Given the description of an element on the screen output the (x, y) to click on. 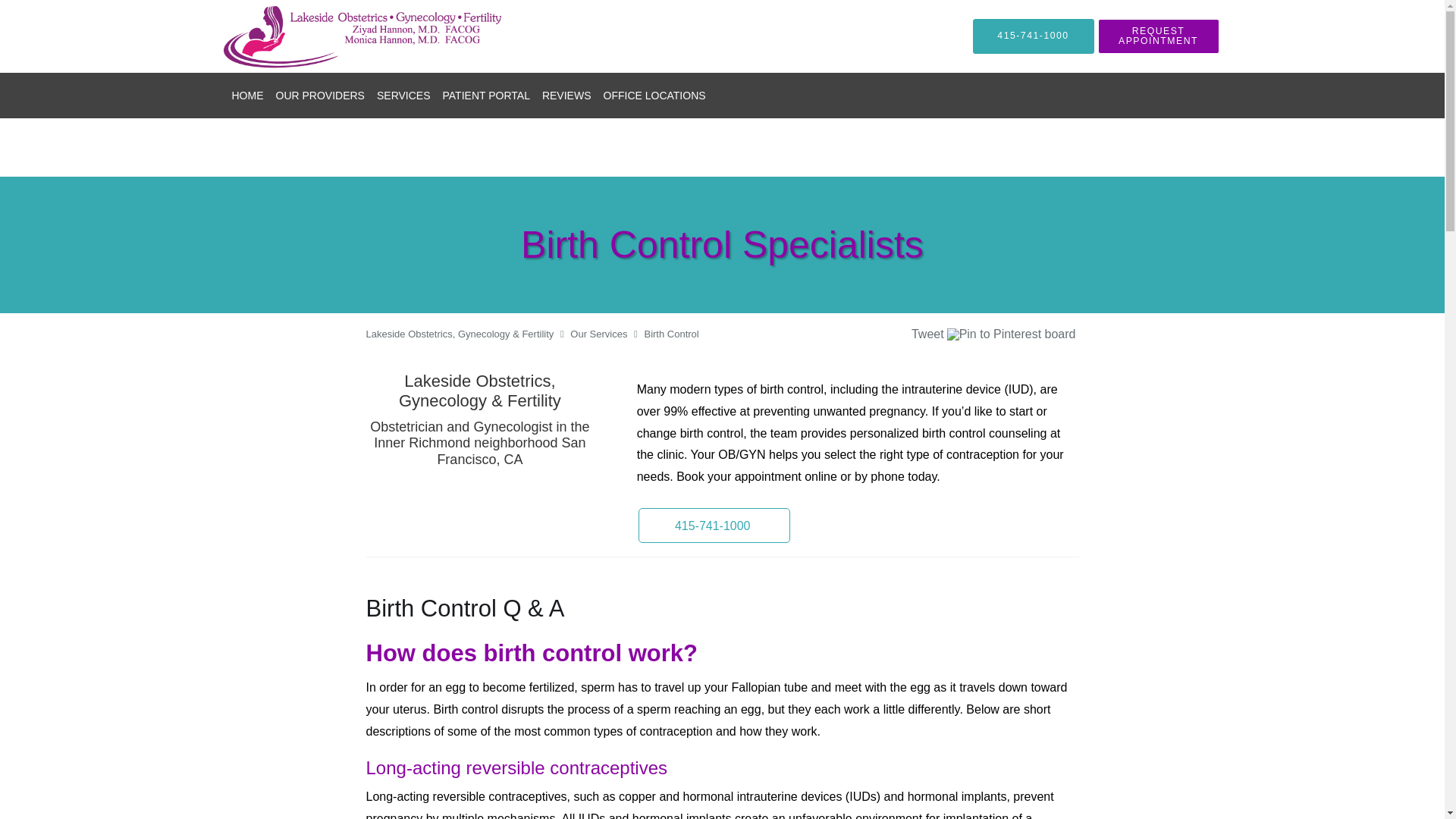
REQUEST APPOINTMENT (1158, 36)
PATIENT PORTAL (485, 95)
Tweet (927, 333)
415-741-1000 (714, 524)
HOME (247, 95)
OUR PROVIDERS (320, 95)
REVIEWS (565, 95)
SERVICES (403, 95)
Facebook social button (852, 335)
Our Services (598, 333)
415-741-1000 (1032, 36)
Birth Control (670, 333)
OFFICE LOCATIONS (653, 95)
